Given the description of an element on the screen output the (x, y) to click on. 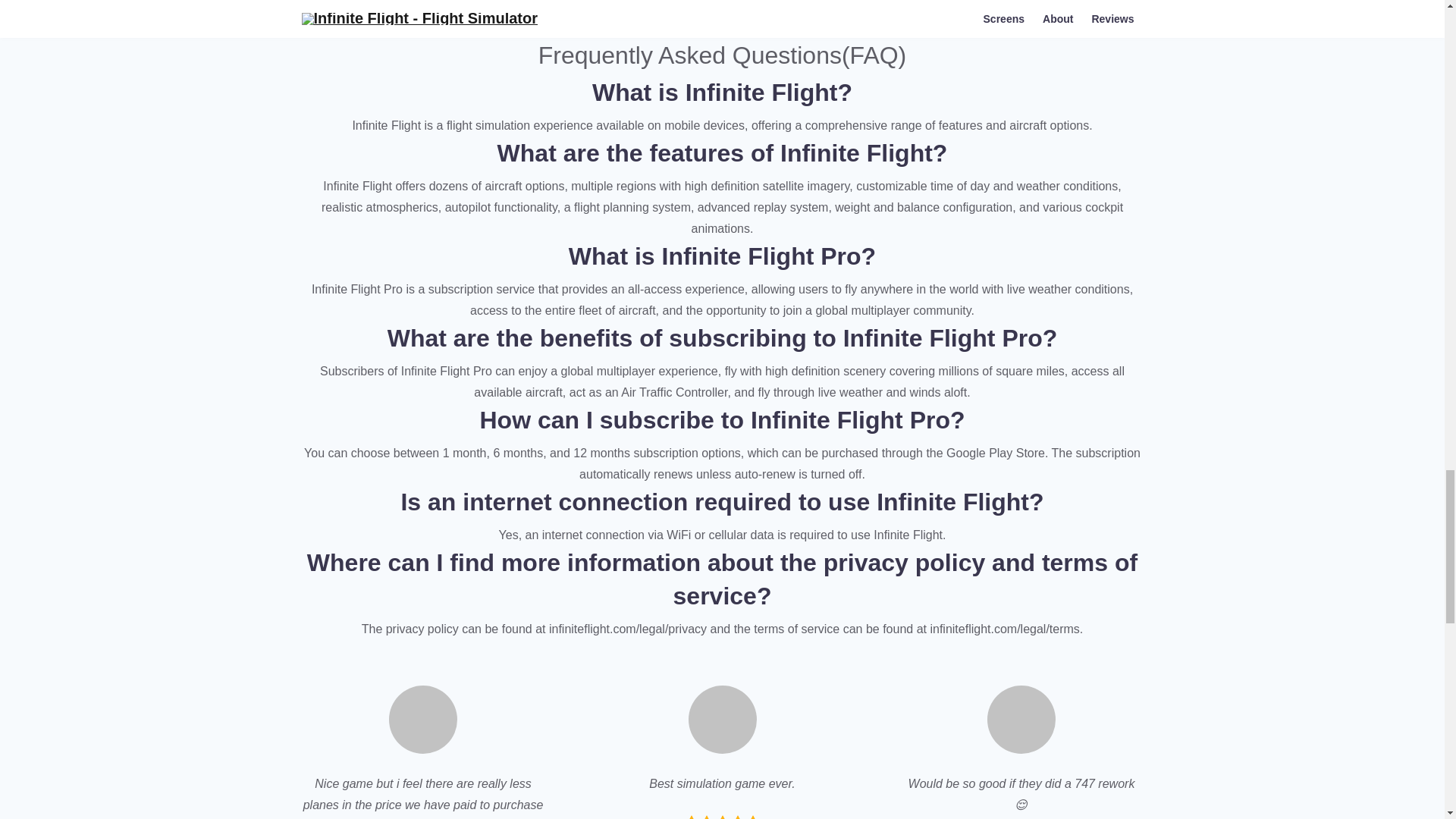
Advertisement (721, 9)
